Given the description of an element on the screen output the (x, y) to click on. 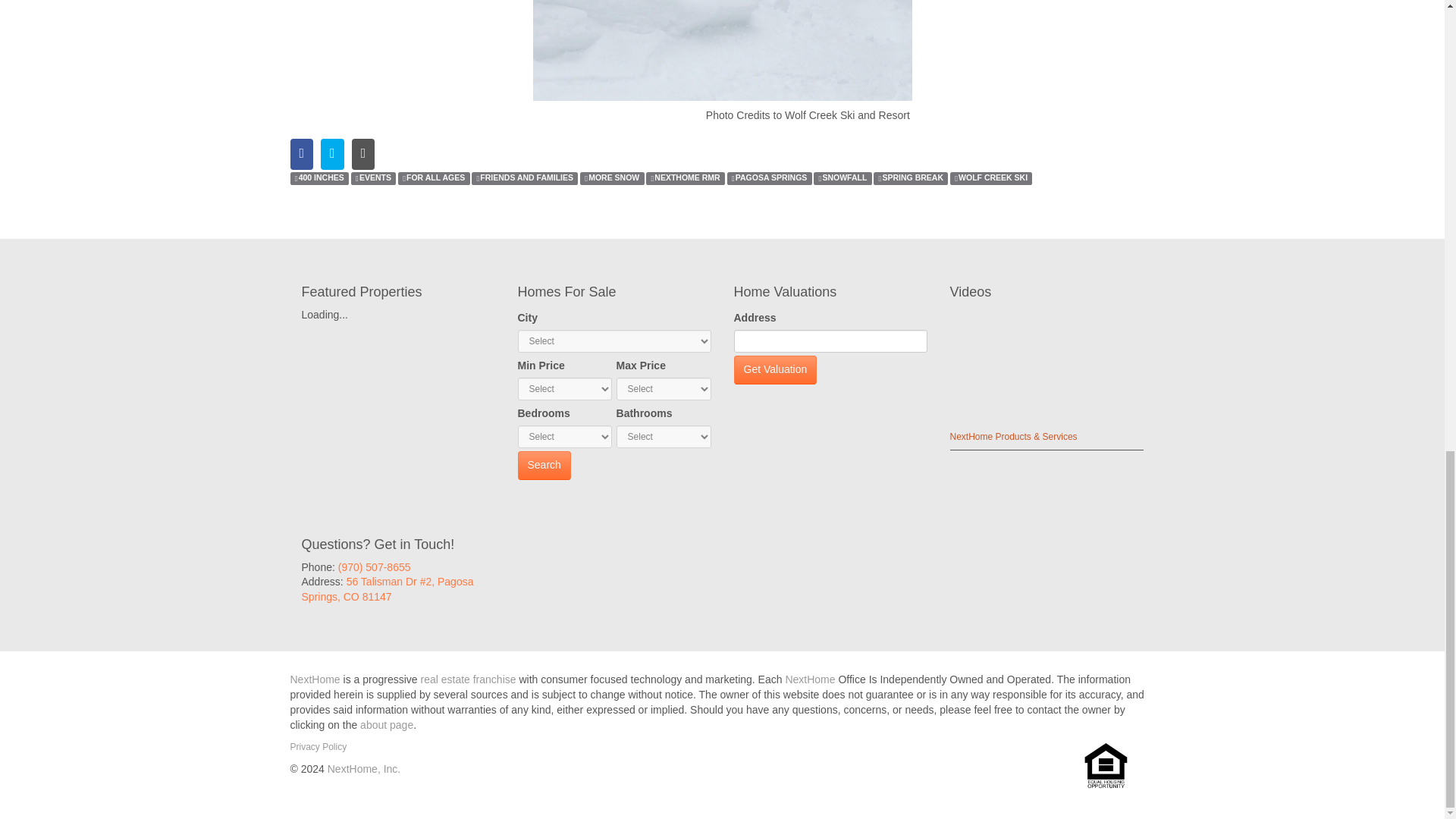
Search (543, 465)
Get Valuation (774, 369)
